Given the description of an element on the screen output the (x, y) to click on. 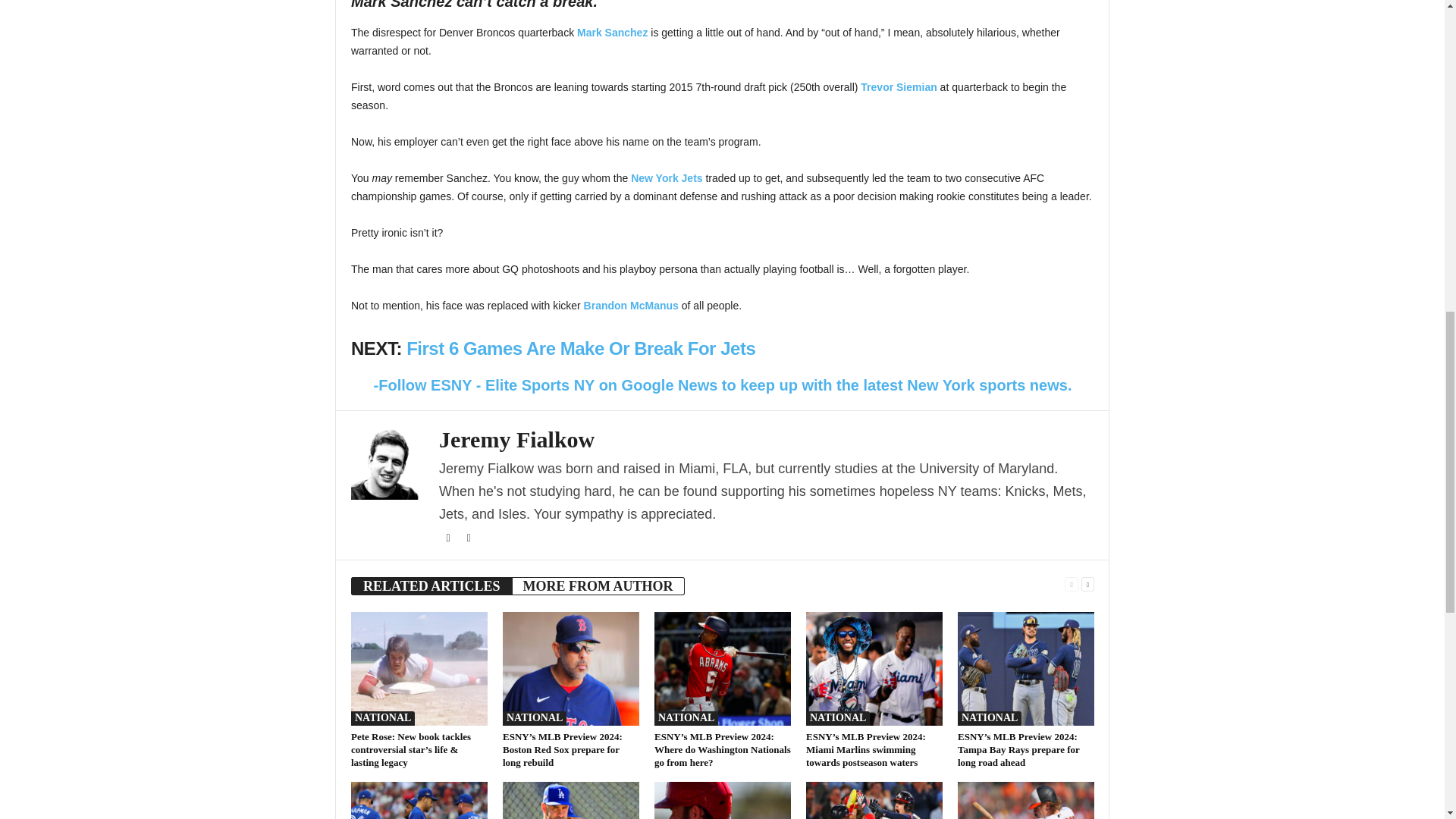
Facebook (449, 538)
Instagram (468, 538)
